Given the description of an element on the screen output the (x, y) to click on. 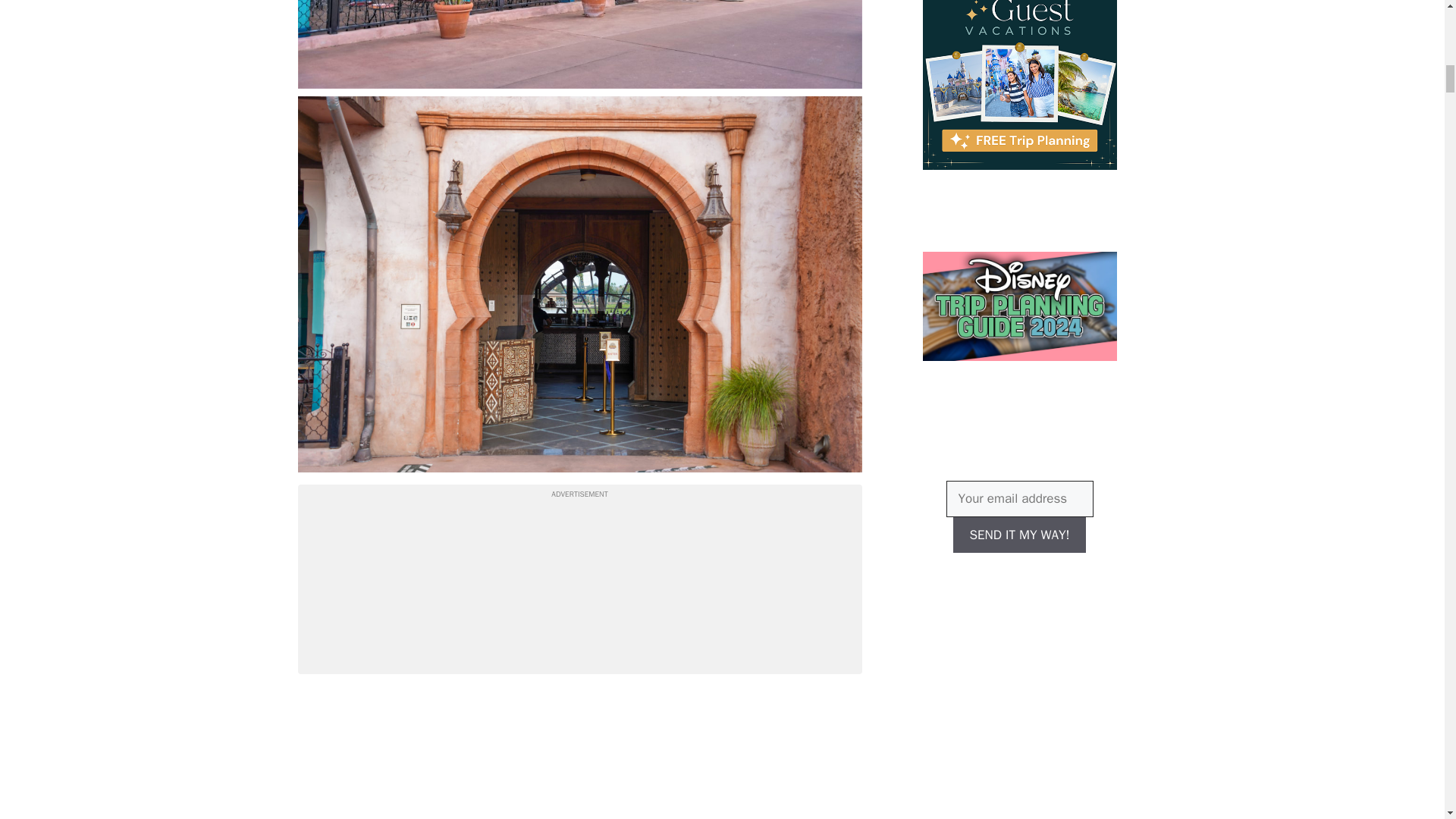
SEND IT MY WAY! (1018, 534)
